Given the description of an element on the screen output the (x, y) to click on. 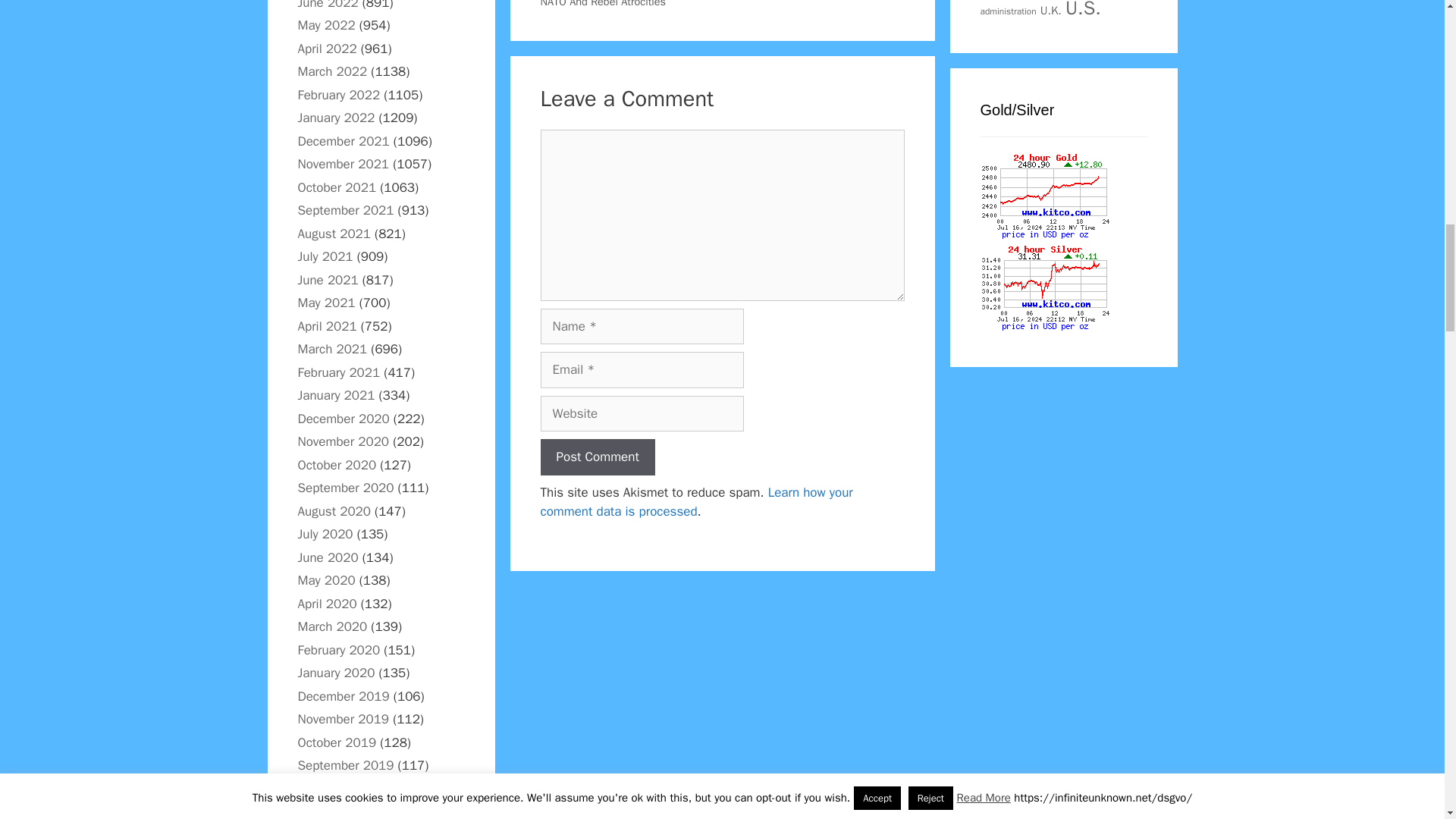
Learn how your comment data is processed (695, 502)
Post Comment (596, 456)
Post Comment (596, 456)
